Given the description of an element on the screen output the (x, y) to click on. 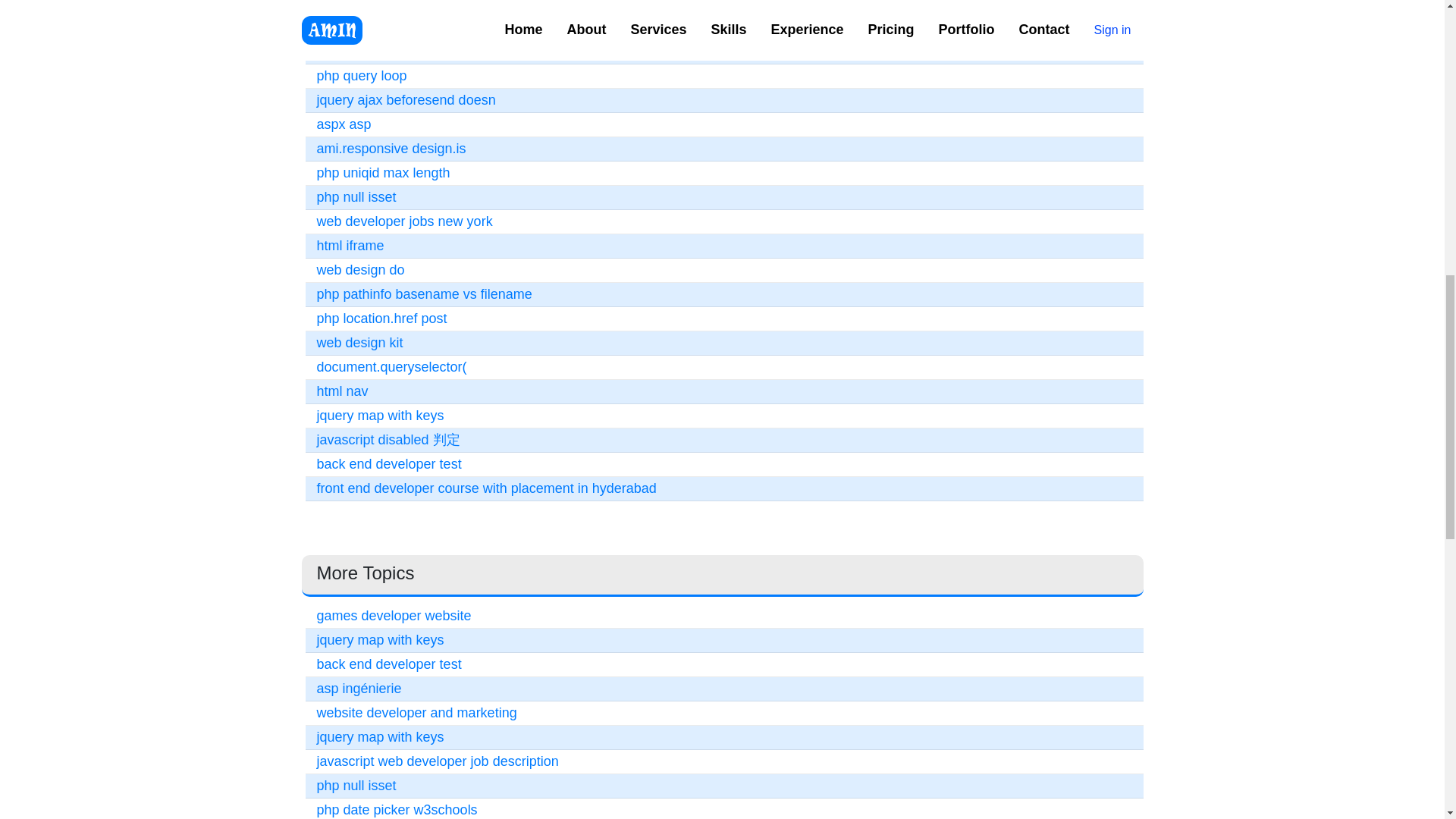
complete web (359, 5)
ajax type (344, 51)
php uniqid max length (383, 172)
ami.responsive design.is (391, 148)
aspx asp (344, 124)
vb lset (336, 27)
jquery ajax beforesend doesn (406, 99)
php query loop (362, 75)
php null isset (356, 196)
